Given the description of an element on the screen output the (x, y) to click on. 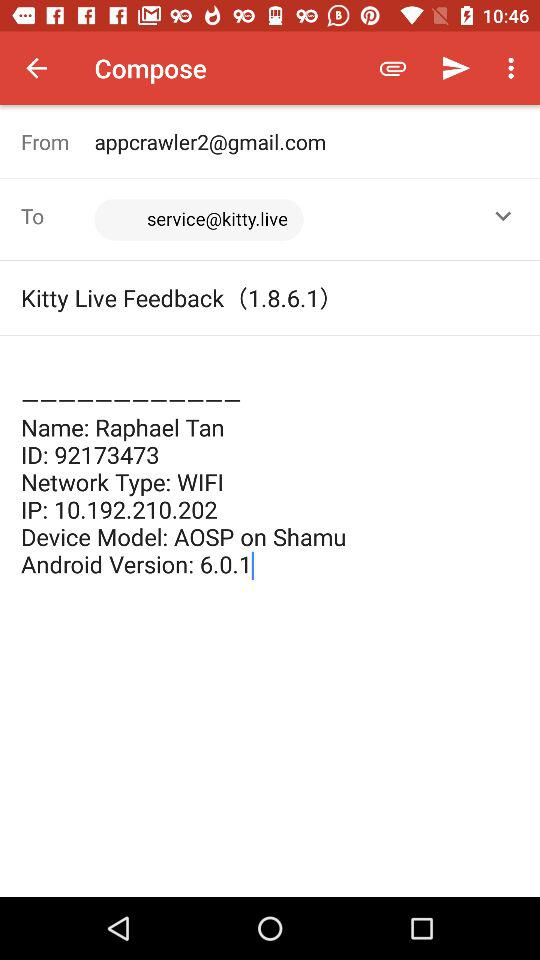
press icon above the appcrawler2@gmail.com item (513, 67)
